Given the description of an element on the screen output the (x, y) to click on. 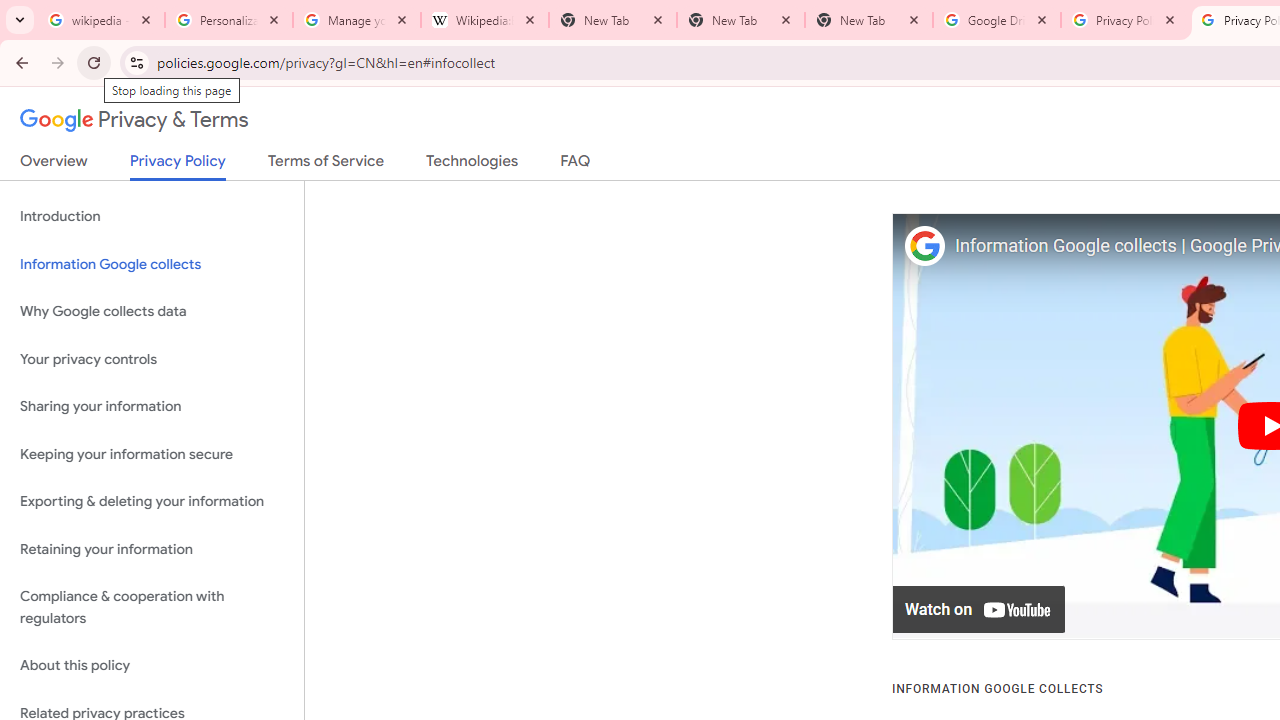
Introduction (152, 216)
Why Google collects data (152, 312)
Photo image of Google (924, 246)
Sharing your information (152, 407)
Privacy & Terms (134, 120)
Keeping your information secure (152, 453)
Google Drive: Sign-in (997, 20)
Terms of Service (326, 165)
Watch on YouTube (979, 610)
New Tab (741, 20)
Manage your Location History - Google Search Help (357, 20)
